Given the description of an element on the screen output the (x, y) to click on. 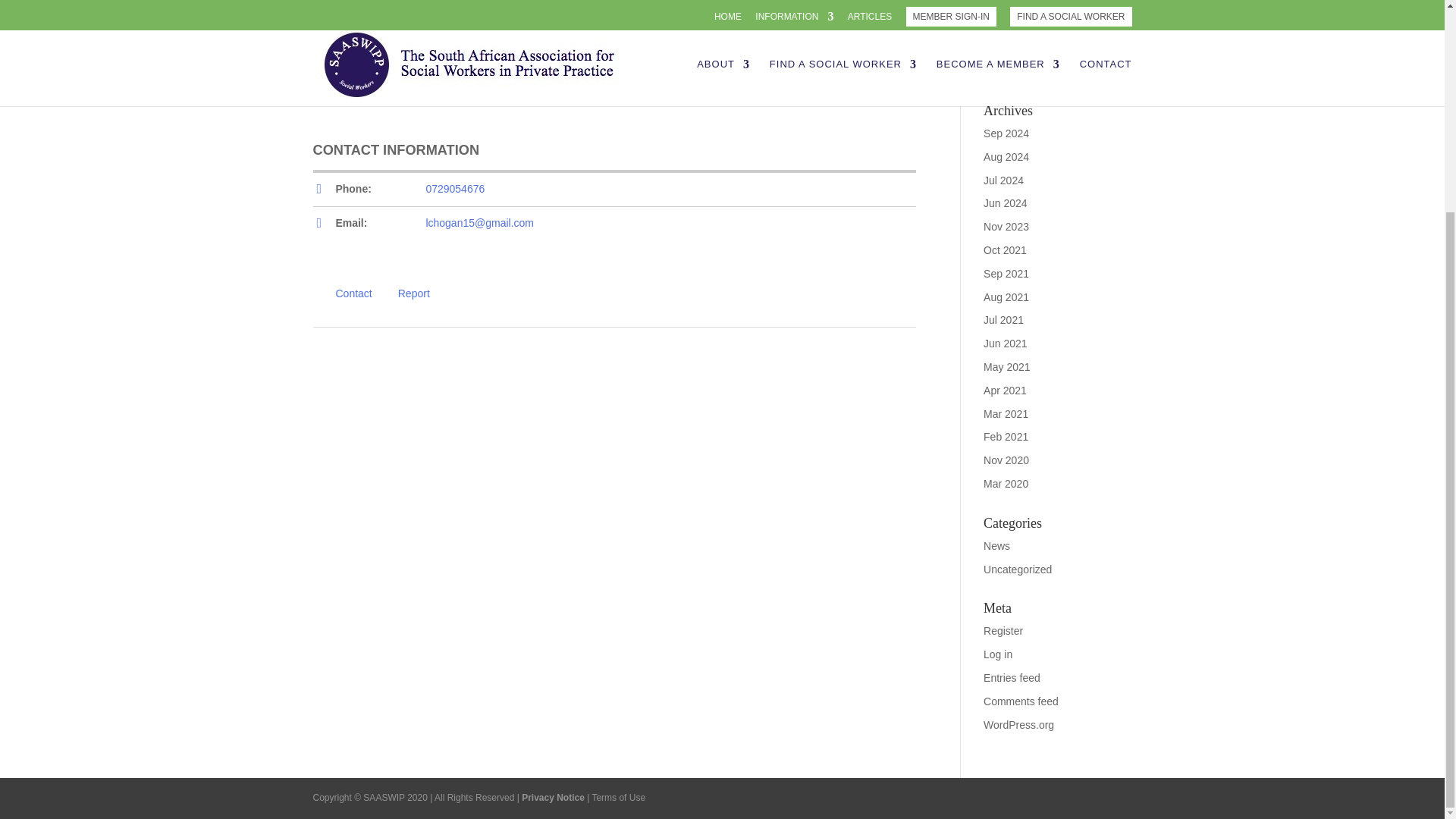
Clinical Social Work   (620, 62)
0729054676 (454, 188)
Suicide   (656, 87)
Assessments   (523, 62)
Mental Health   (870, 62)
Personal development   (371, 87)
Anxiety   (452, 62)
Counselling   (715, 62)
Psychiatric work   (482, 87)
Depression   (791, 62)
